Given the description of an element on the screen output the (x, y) to click on. 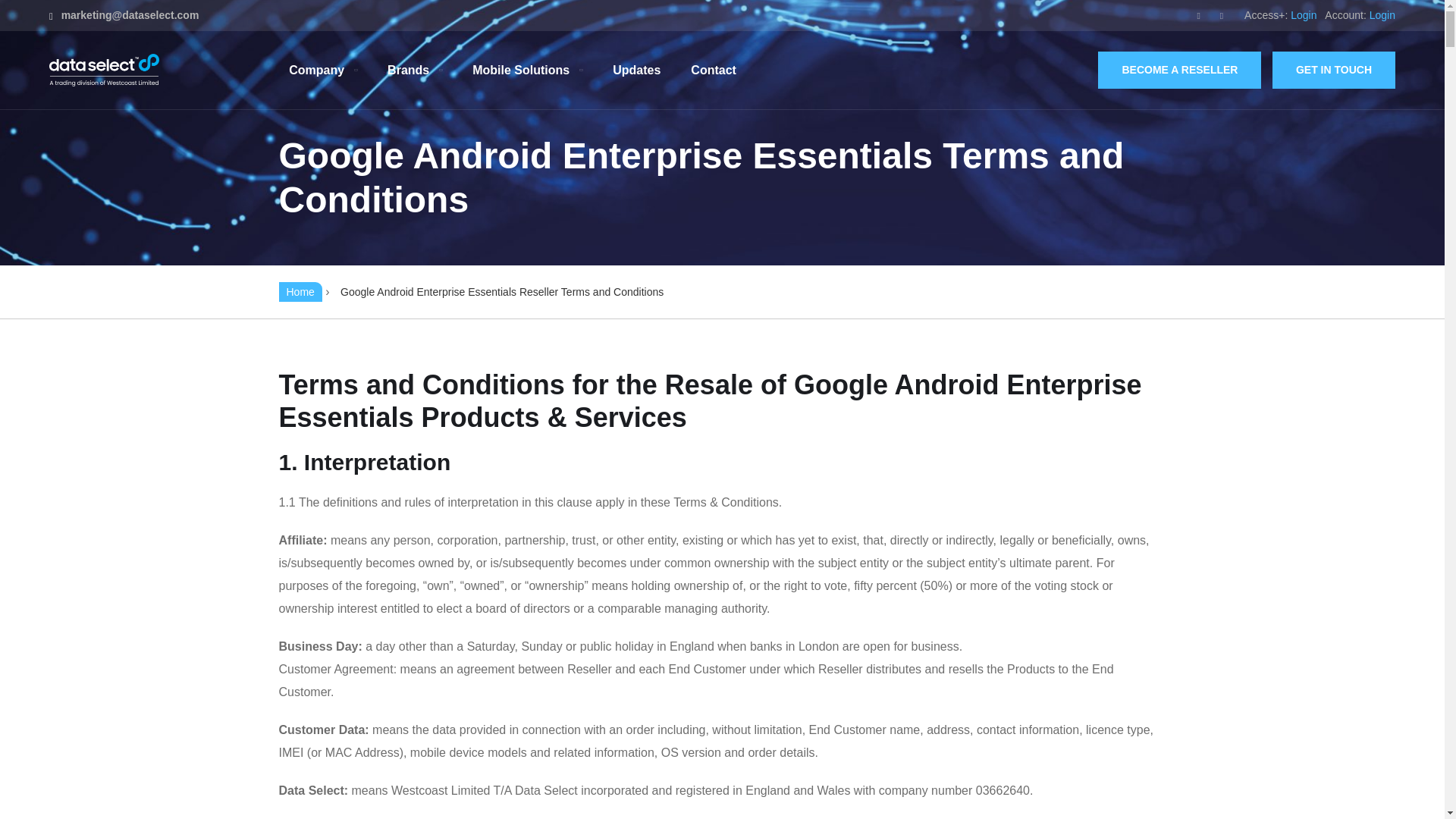
GET IN TOUCH (1333, 70)
Mobile Solutions (526, 69)
Login (1303, 15)
Login (1382, 15)
BECOME A RESELLER (1178, 70)
Company (322, 69)
